Given the description of an element on the screen output the (x, y) to click on. 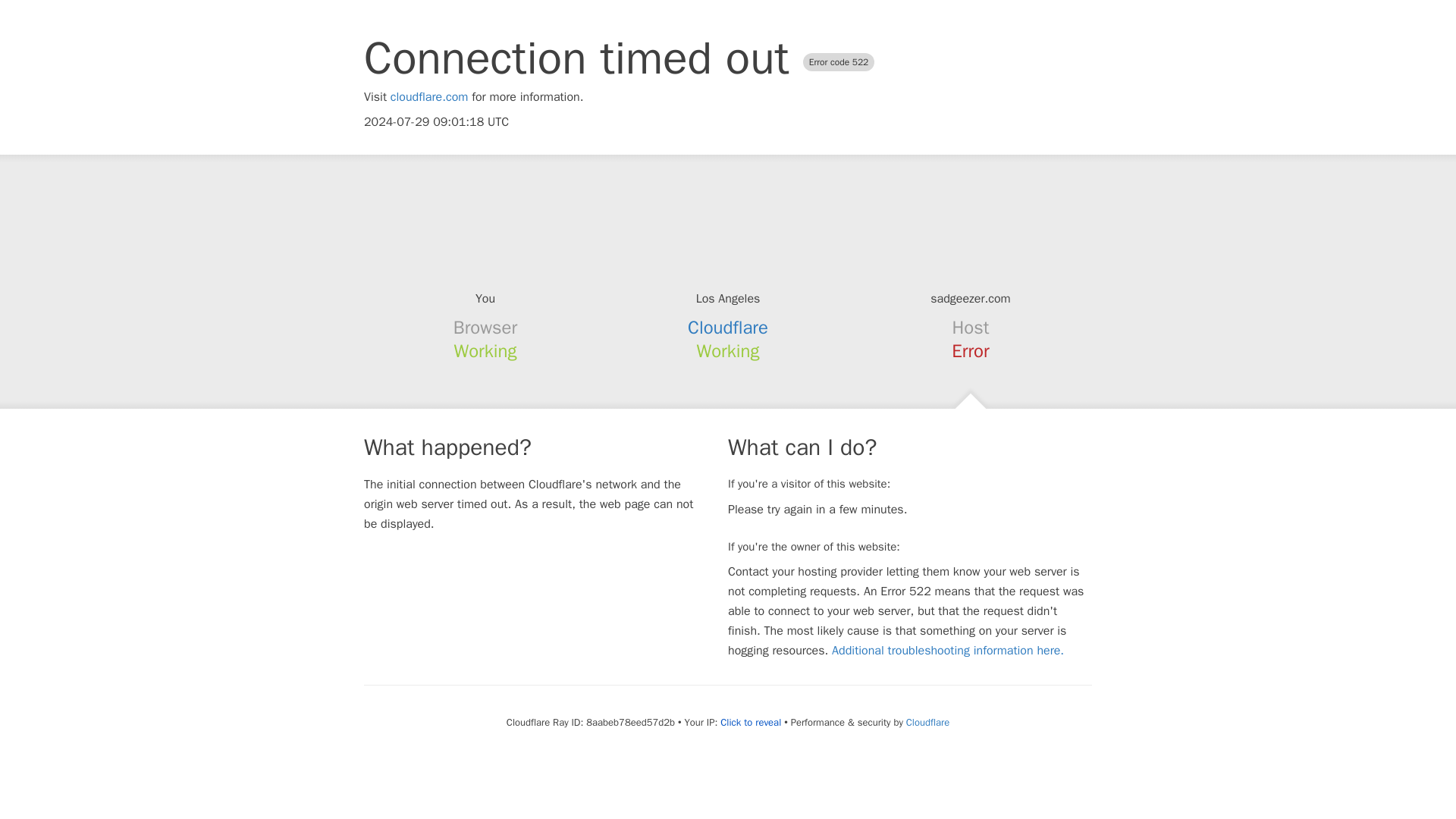
Cloudflare (927, 721)
Click to reveal (750, 722)
Additional troubleshooting information here. (947, 650)
cloudflare.com (429, 96)
Cloudflare (727, 327)
